Given the description of an element on the screen output the (x, y) to click on. 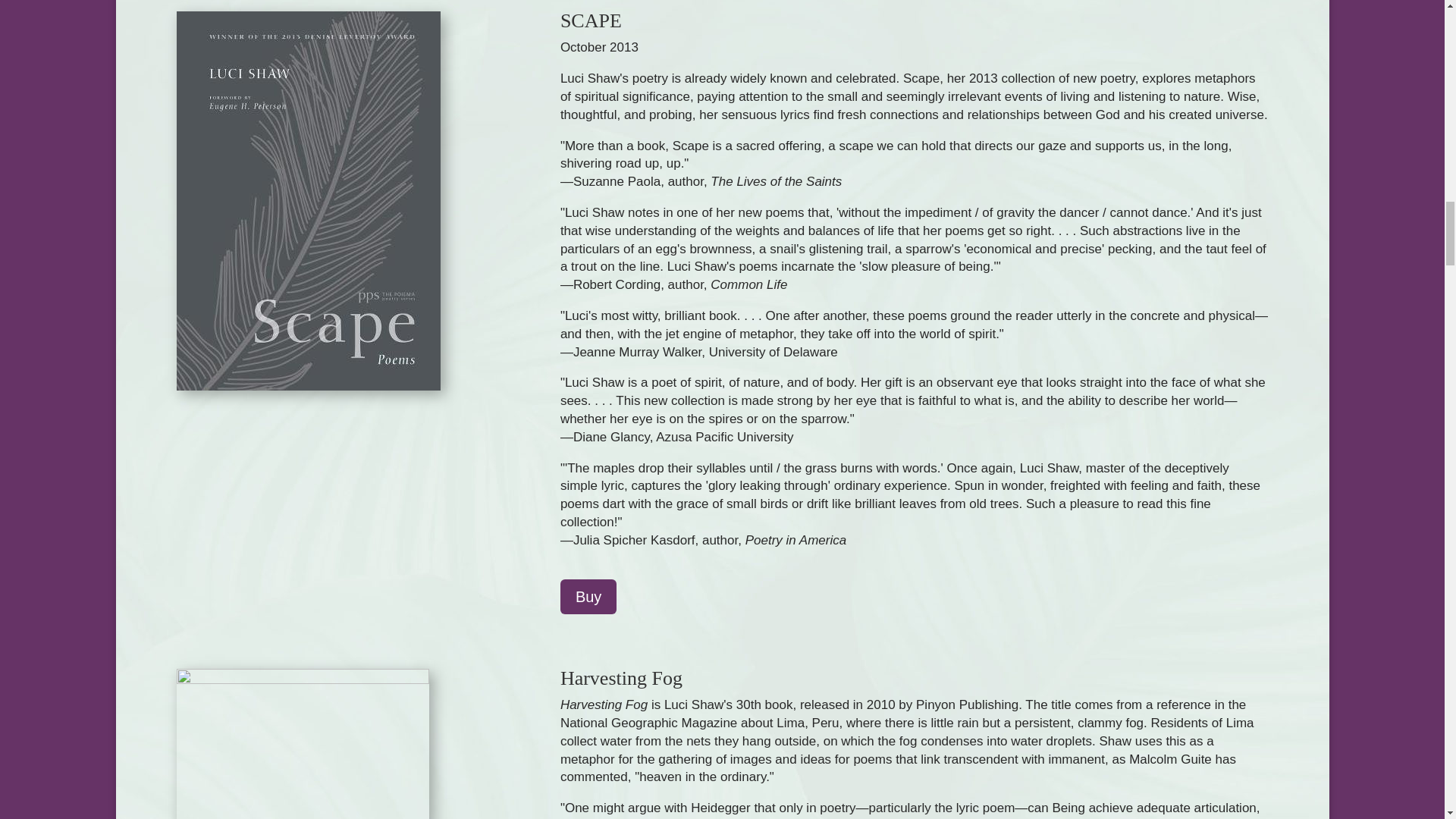
Buy (587, 596)
harvesting-fog (302, 744)
